Given the description of an element on the screen output the (x, y) to click on. 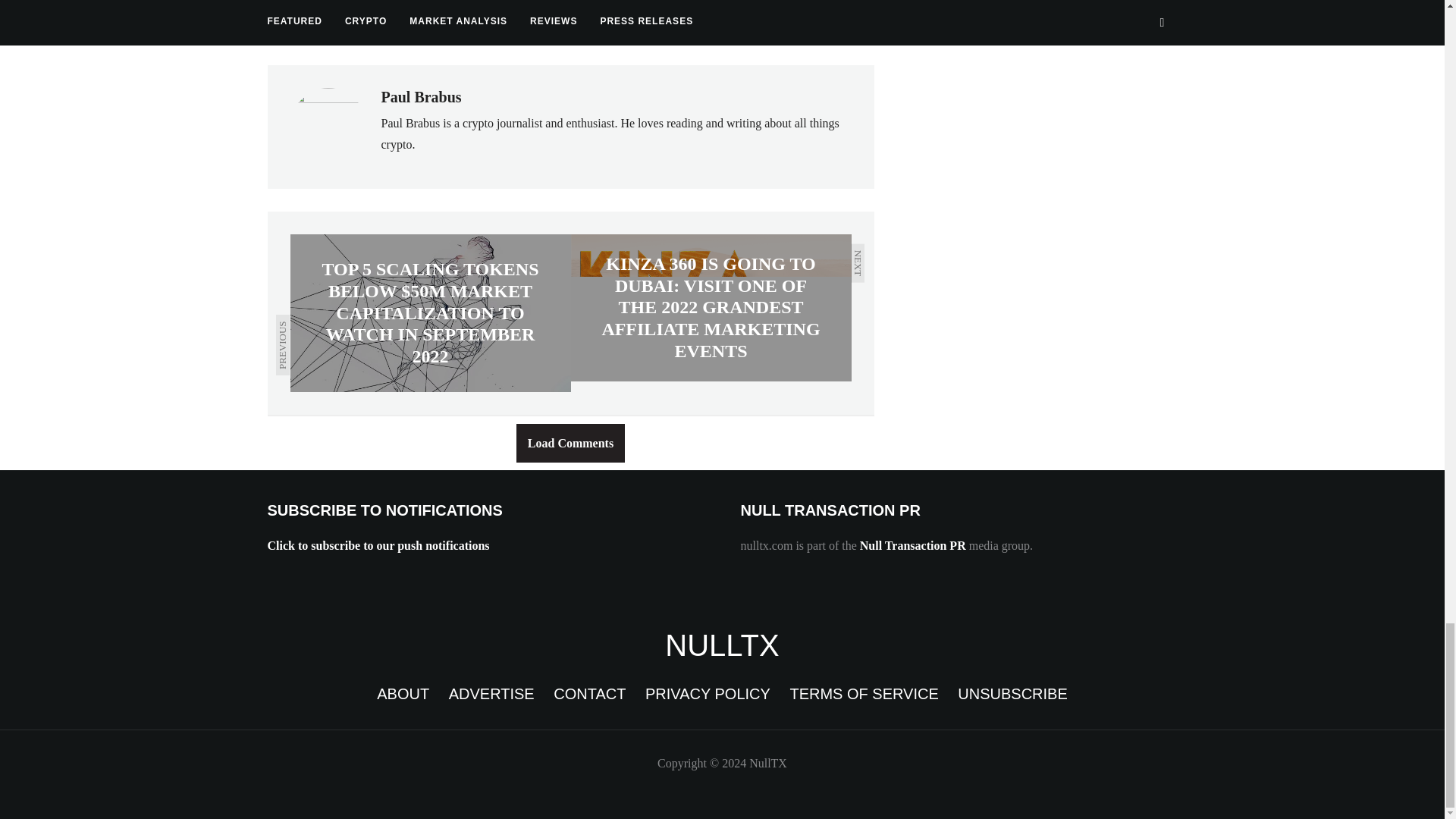
Paul Brabus (420, 96)
Ethereum (375, 25)
Stocks (514, 25)
bitcoin (297, 25)
Cryptocurrency News (721, 644)
Posts by Paul Brabus (420, 96)
SEC (448, 25)
